Given the description of an element on the screen output the (x, y) to click on. 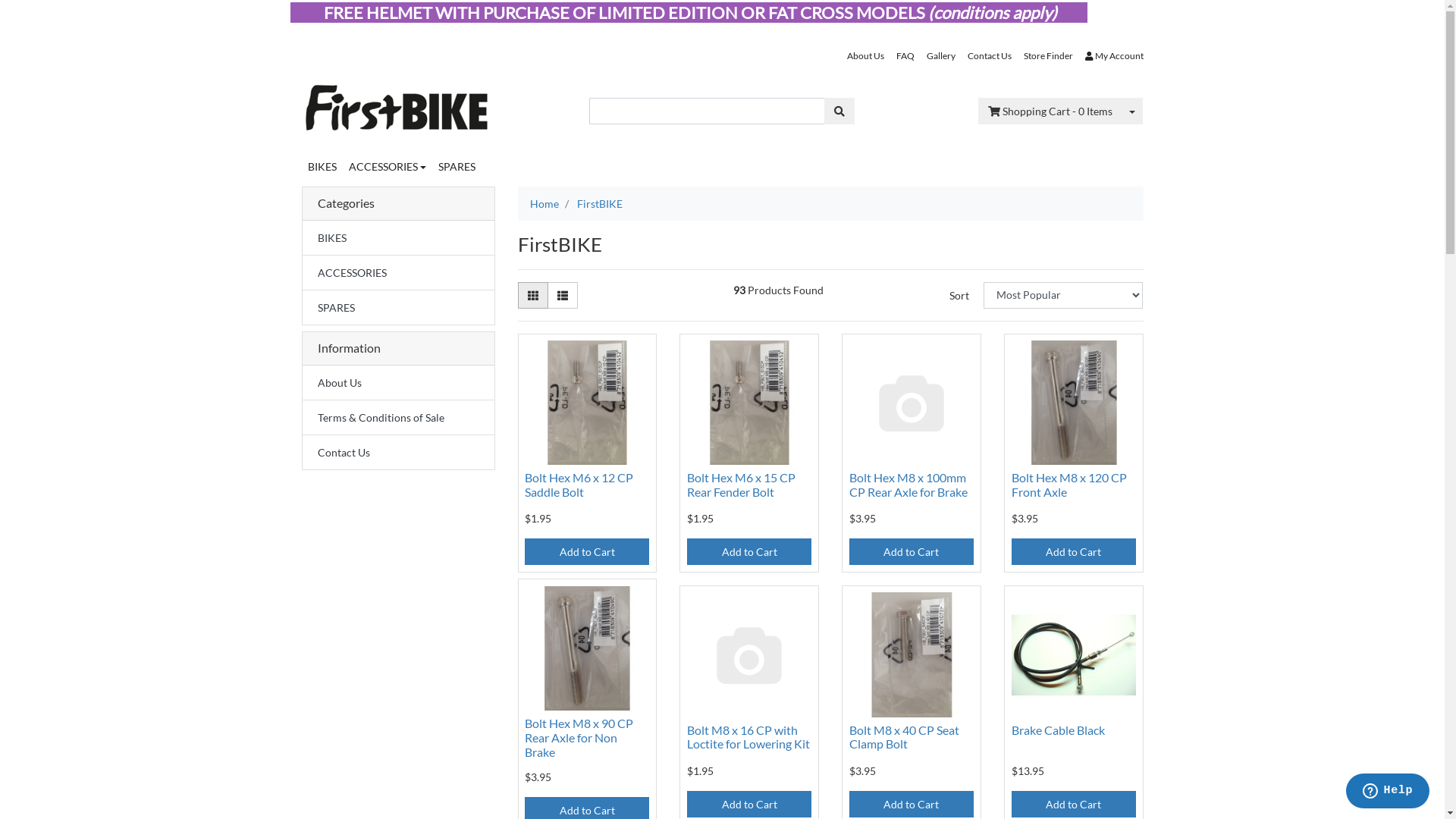
SPARES Element type: text (456, 166)
Add to Cart Element type: text (749, 551)
Bolt Hex M8 x 100mm CP Rear Axle for Brake Element type: text (908, 484)
Opens a widget where you can chat to one of our agents Element type: hover (1387, 792)
Add to Cart Element type: text (586, 551)
BIKES Element type: text (397, 237)
Add to Cart Element type: text (911, 551)
Add to Cart Element type: text (1073, 803)
FAQ Element type: text (905, 56)
Add to Cart Element type: text (749, 803)
About Us Element type: text (864, 56)
Bolt Hex M8 x 120 CP Front Axle Element type: text (1068, 484)
Add to Cart Element type: text (1073, 551)
Store Finder Element type: text (1048, 56)
ACCESSORIES Element type: text (397, 272)
ACCESSORIES Element type: text (387, 166)
Terms & Conditions of Sale Element type: text (397, 417)
BIKES Element type: text (321, 166)
My Account Element type: text (1110, 56)
Contact Us Element type: text (397, 452)
SPARES Element type: text (397, 307)
Bolt Hex M6 x 12 CP Saddle Bolt Element type: text (578, 484)
FirstBIKE Australia Element type: hover (396, 103)
Brake Cable Black Element type: text (1057, 729)
About Us Element type: text (397, 382)
Gallery Element type: text (940, 56)
Shopping Cart - 0 Items Element type: text (1050, 110)
Add to Cart Element type: text (911, 803)
Contact Us Element type: text (989, 56)
Bolt M8 x 40 CP Seat Clamp Bolt Element type: text (904, 736)
Search Element type: text (839, 110)
Home Element type: text (543, 203)
Bolt M8 x 16 CP with Loctite for Lowering Kit Element type: text (748, 736)
Toggle Dropdown Element type: text (1131, 110)
FirstBIKE Element type: text (598, 203)
Bolt Hex M8 x 90 CP Rear Axle for Non Brake Element type: text (578, 737)
Bolt Hex M6 x 15 CP Rear Fender Bolt Element type: text (741, 484)
